Given the description of an element on the screen output the (x, y) to click on. 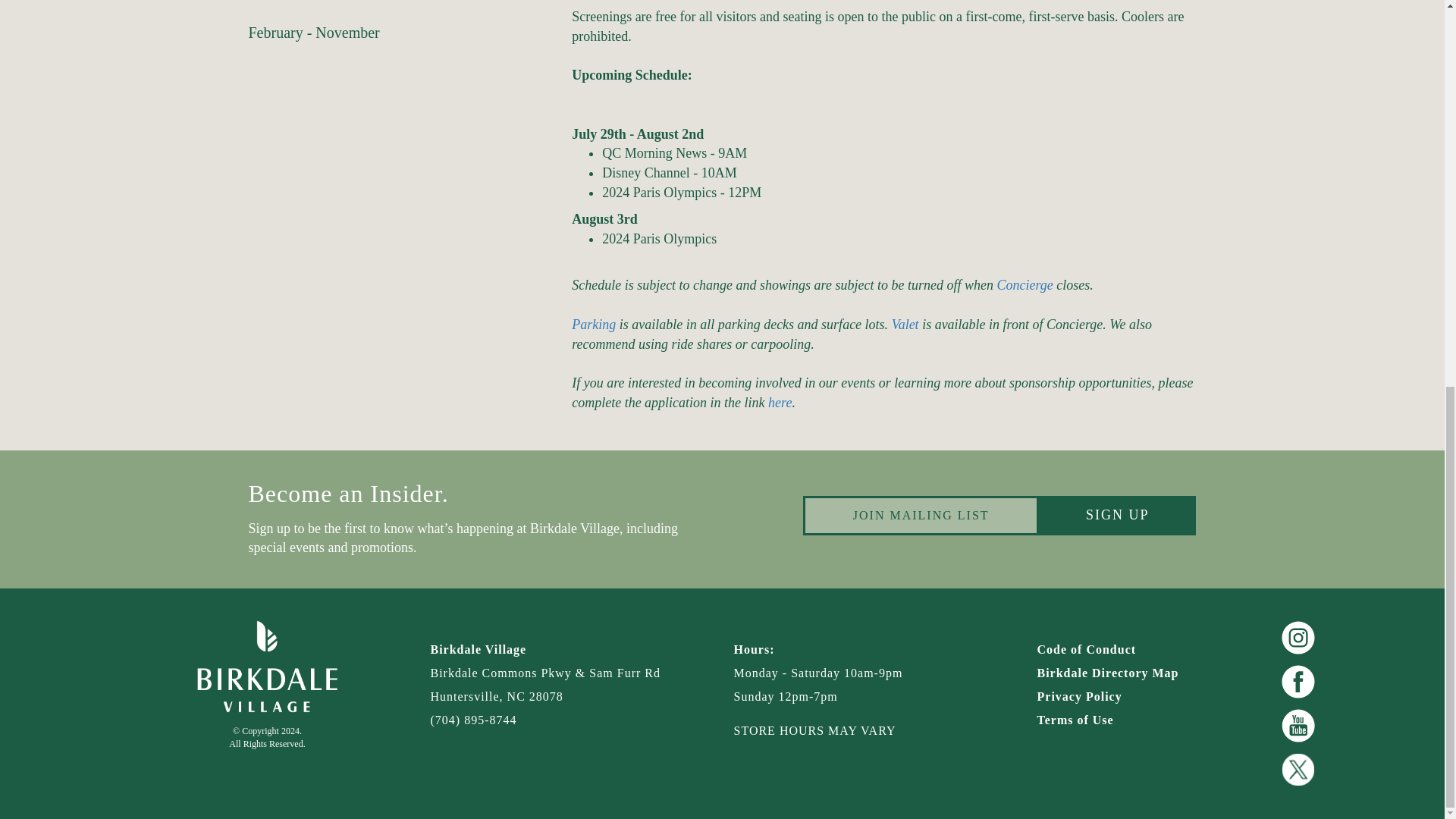
Terms of Use (1126, 720)
here (780, 402)
Facebook (1298, 681)
Instagram (1298, 637)
YouTube (1298, 725)
Sign Up (1117, 515)
Sign Up (1117, 515)
Valet (904, 324)
Directions and Parking (593, 324)
Code of Conduct (1126, 650)
Concierge (1023, 284)
Birkdale Village (266, 667)
Terms of Use (1126, 720)
Privacy Policy (1126, 696)
Parking (593, 324)
